Given the description of an element on the screen output the (x, y) to click on. 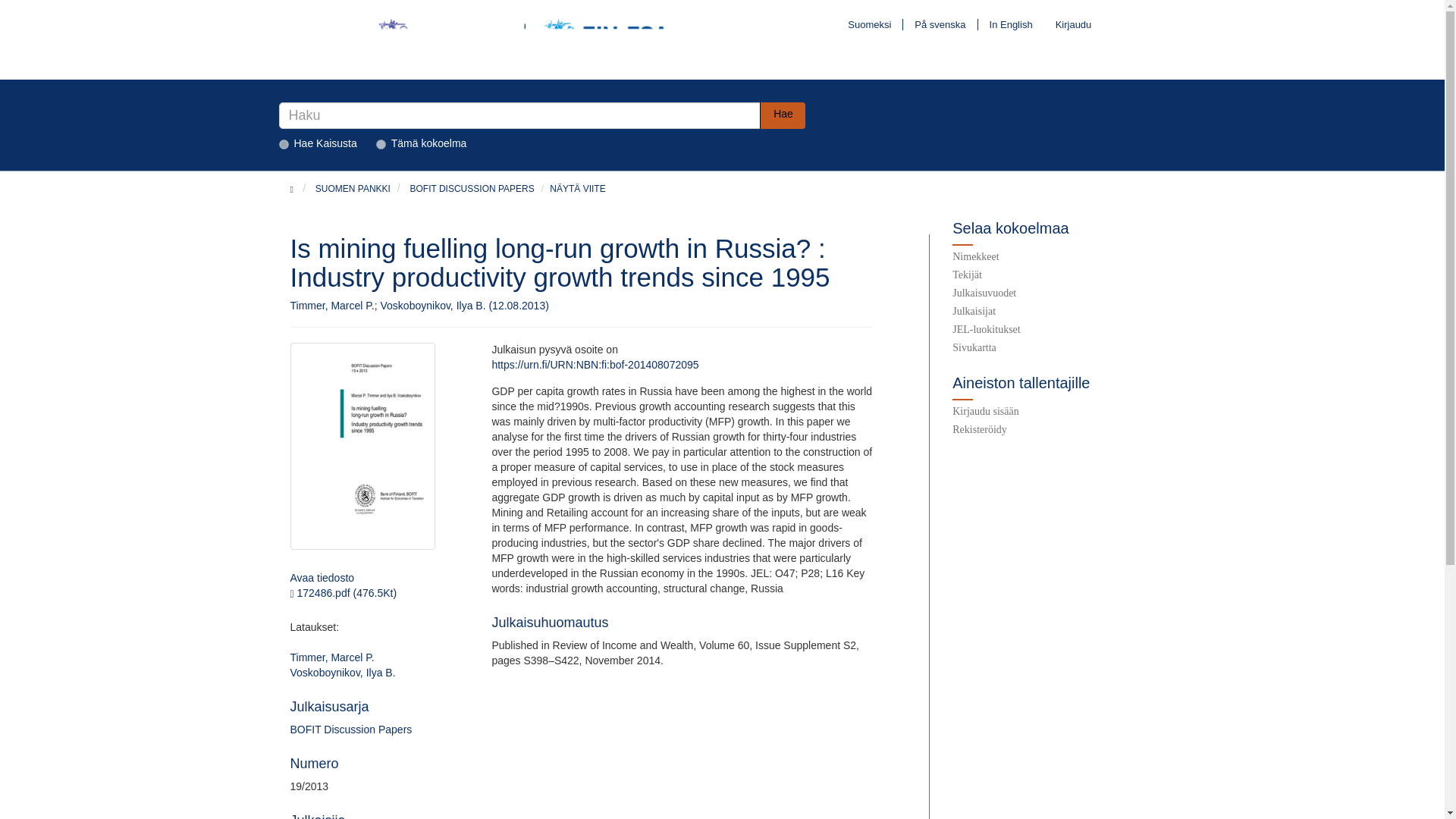
SUOMEN PANKKI (352, 188)
JEL-luokitukset (1053, 331)
BOFIT DISCUSSION PAPERS (471, 188)
In English (1011, 24)
Kirjaudu (1067, 24)
Nimekkeet (1053, 258)
Voskoboynikov, Ilya B. (341, 672)
Timmer, Marcel P. (331, 657)
Hae (782, 115)
Suomeksi (869, 24)
